Given the description of an element on the screen output the (x, y) to click on. 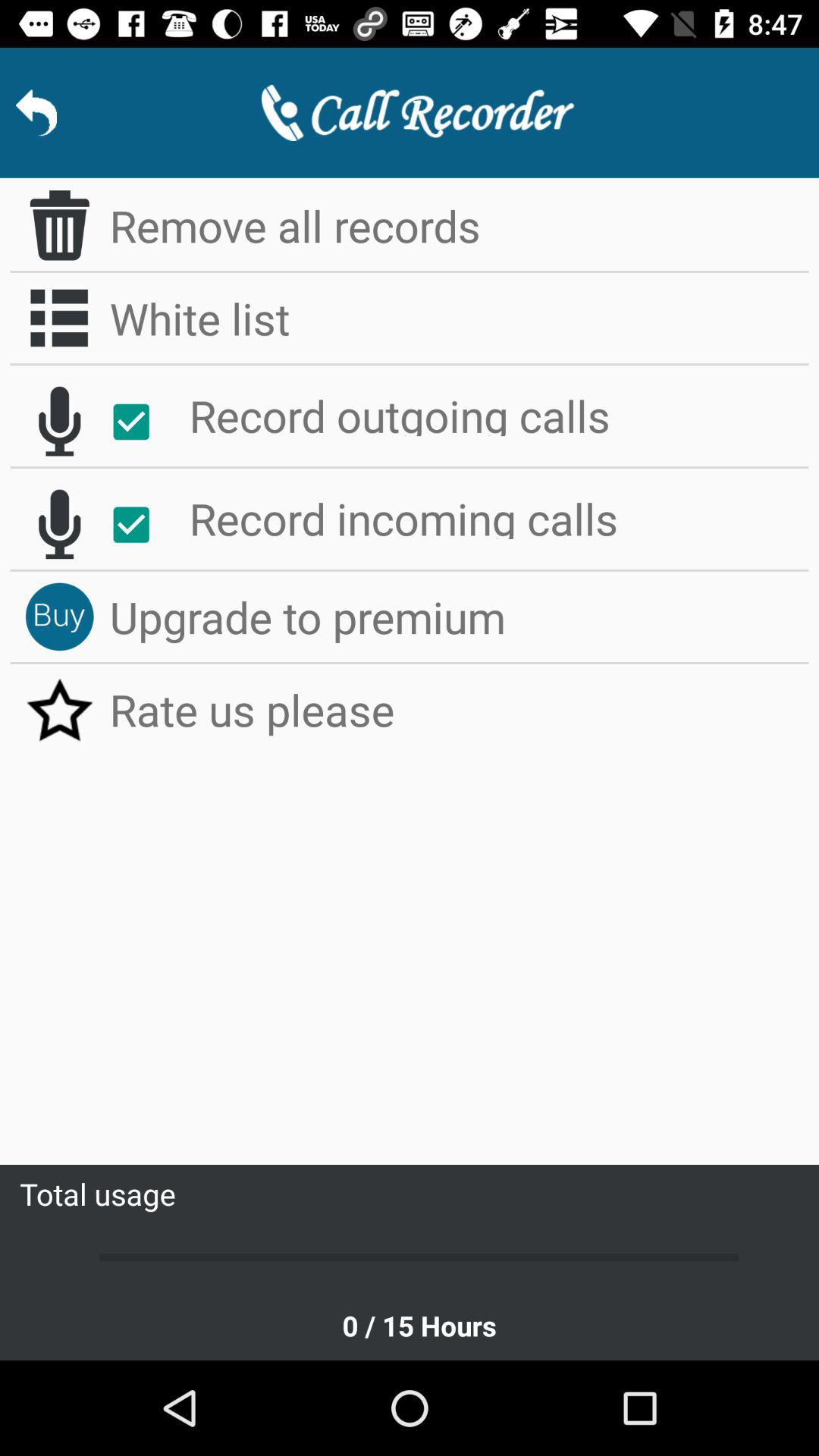
open the icon next to the remove all records icon (59, 225)
